Given the description of an element on the screen output the (x, y) to click on. 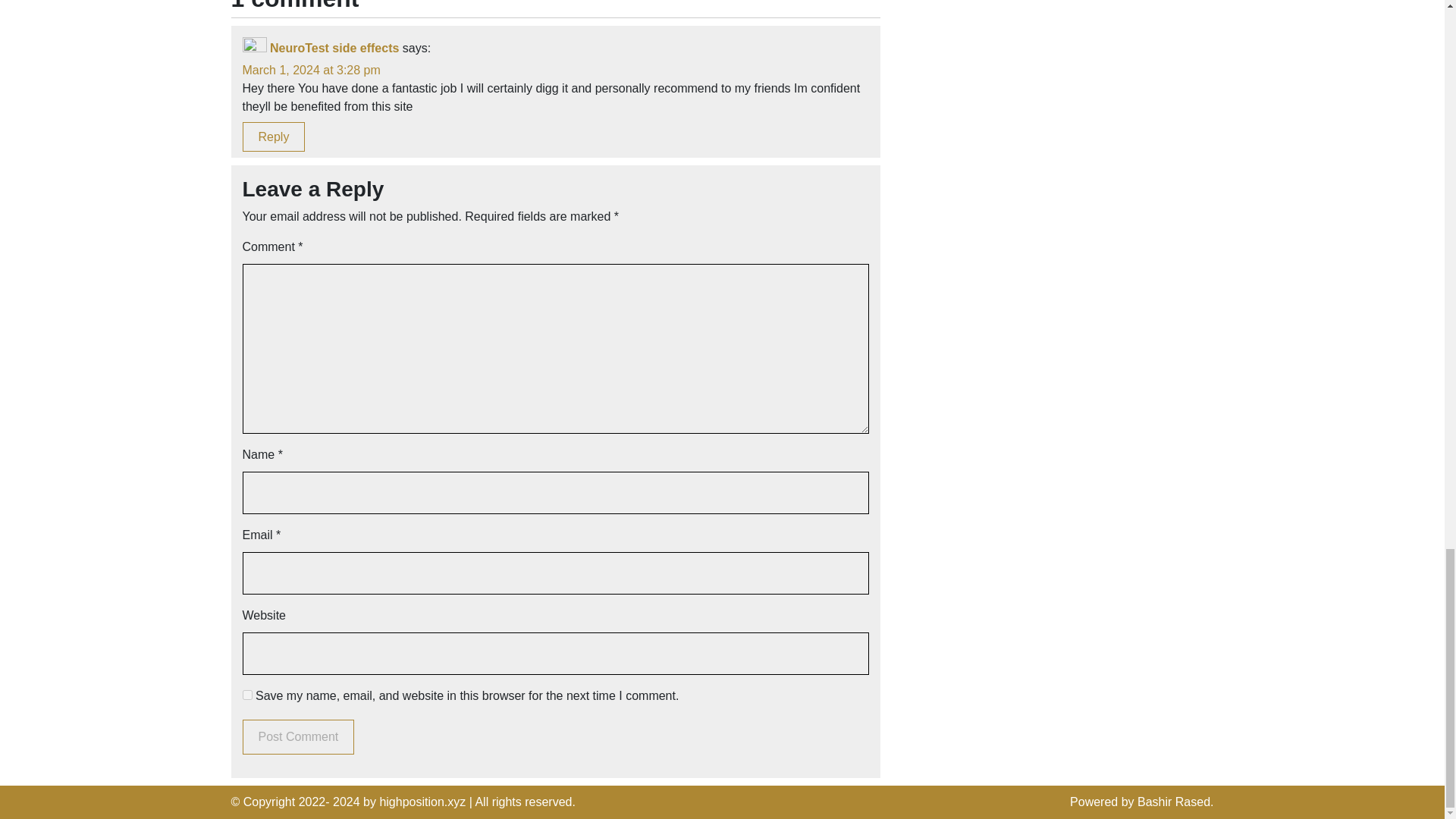
NeuroTest side effects (333, 47)
Post Comment (299, 736)
yes (247, 695)
March 1, 2024 at 3:28 pm (311, 69)
Post Comment (299, 736)
Reply (274, 136)
